Given the description of an element on the screen output the (x, y) to click on. 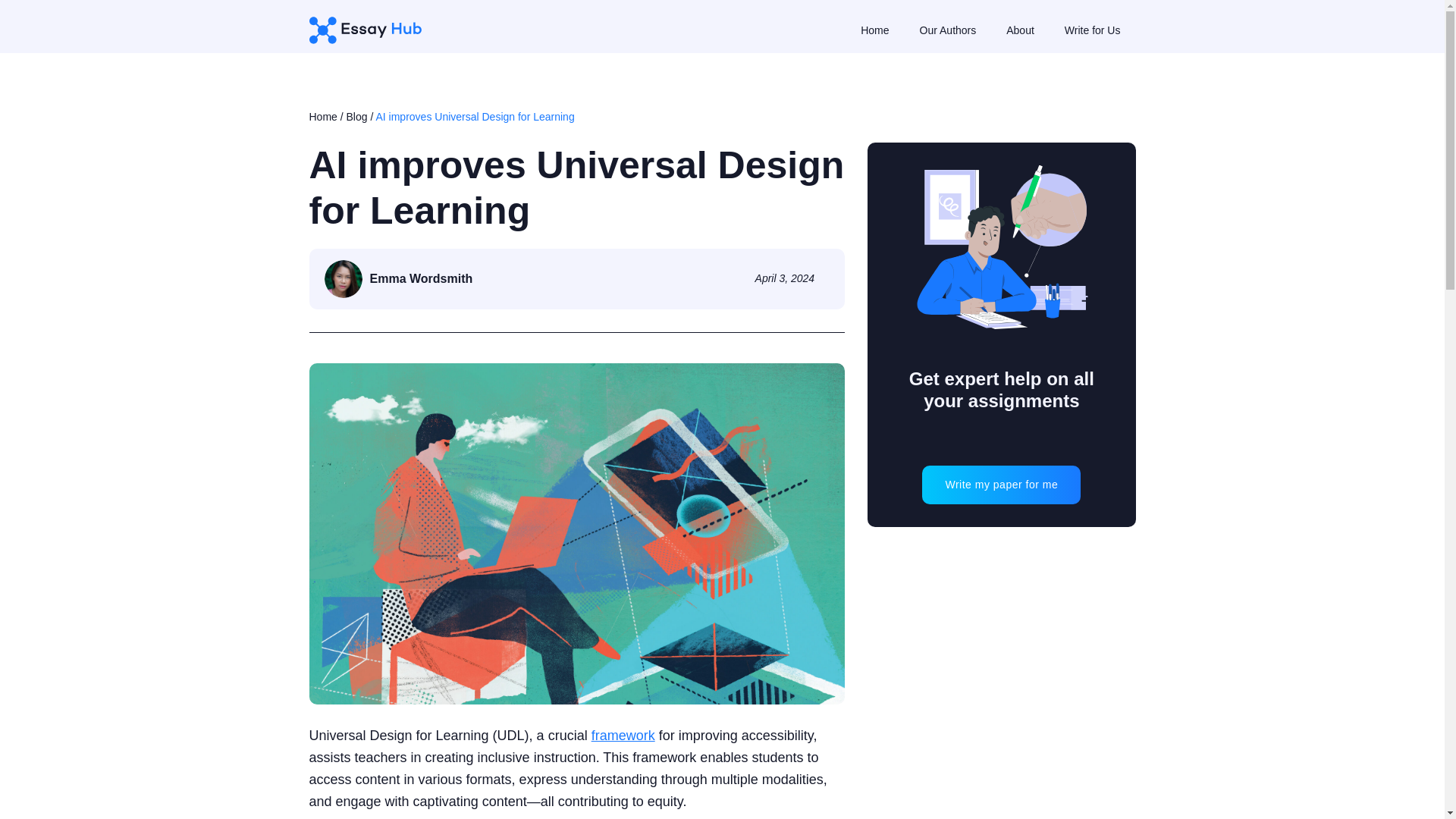
framework (623, 735)
Write my paper for me (1000, 485)
About (1019, 30)
Home (322, 116)
Emma Wordsmith (398, 279)
Home (874, 30)
EssayHub (370, 30)
Write for Us (1092, 30)
Our Authors (948, 30)
Blog (357, 116)
